Given the description of an element on the screen output the (x, y) to click on. 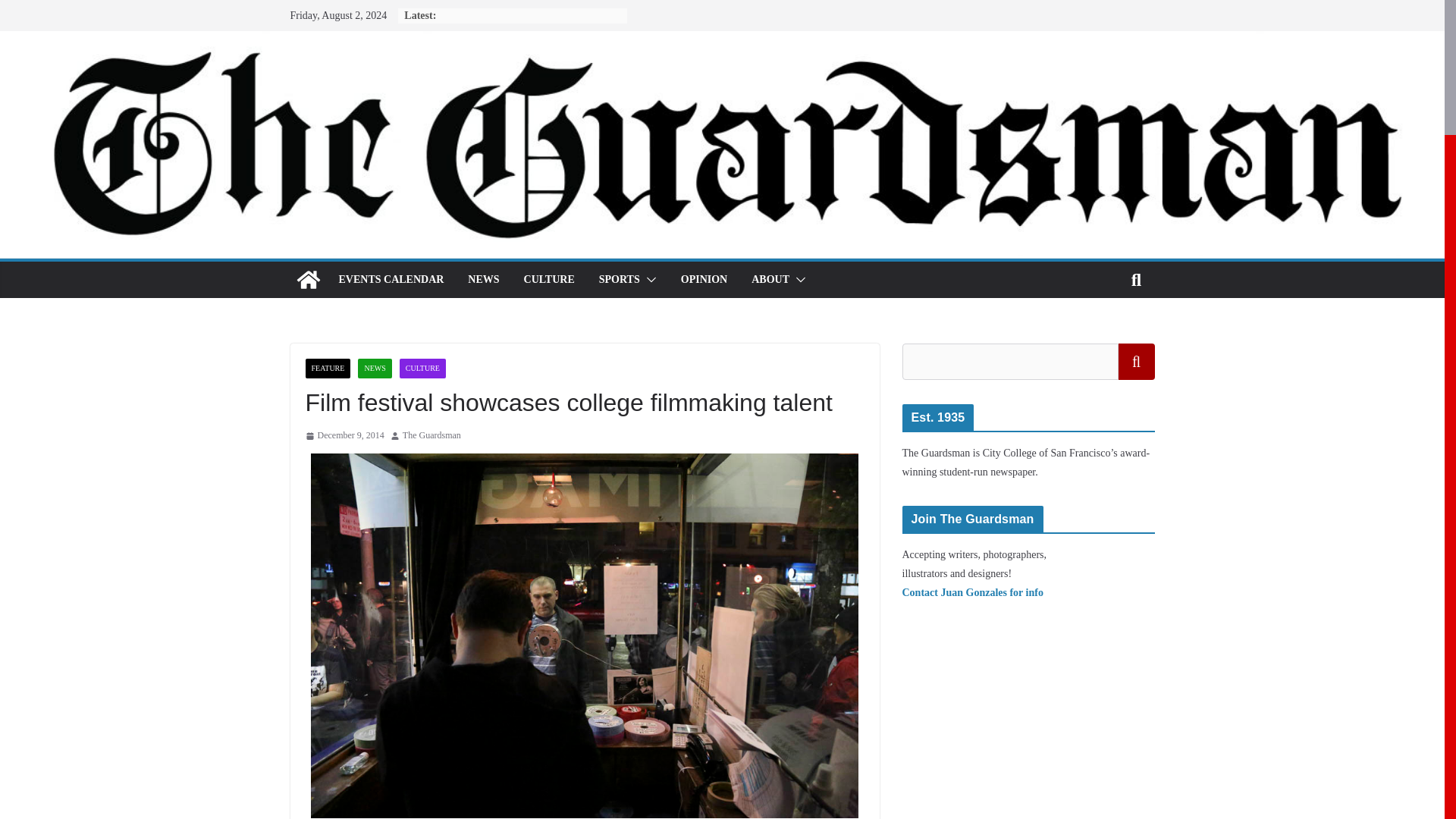
December 9, 2014 (344, 435)
NEWS (483, 279)
NEWS (374, 368)
10:52 pm (344, 435)
CULTURE (421, 368)
EVENTS CALENDAR (390, 279)
SPORTS (619, 279)
CULTURE (549, 279)
Search (1136, 361)
Contact Juan Gonzales for info (972, 592)
